Given the description of an element on the screen output the (x, y) to click on. 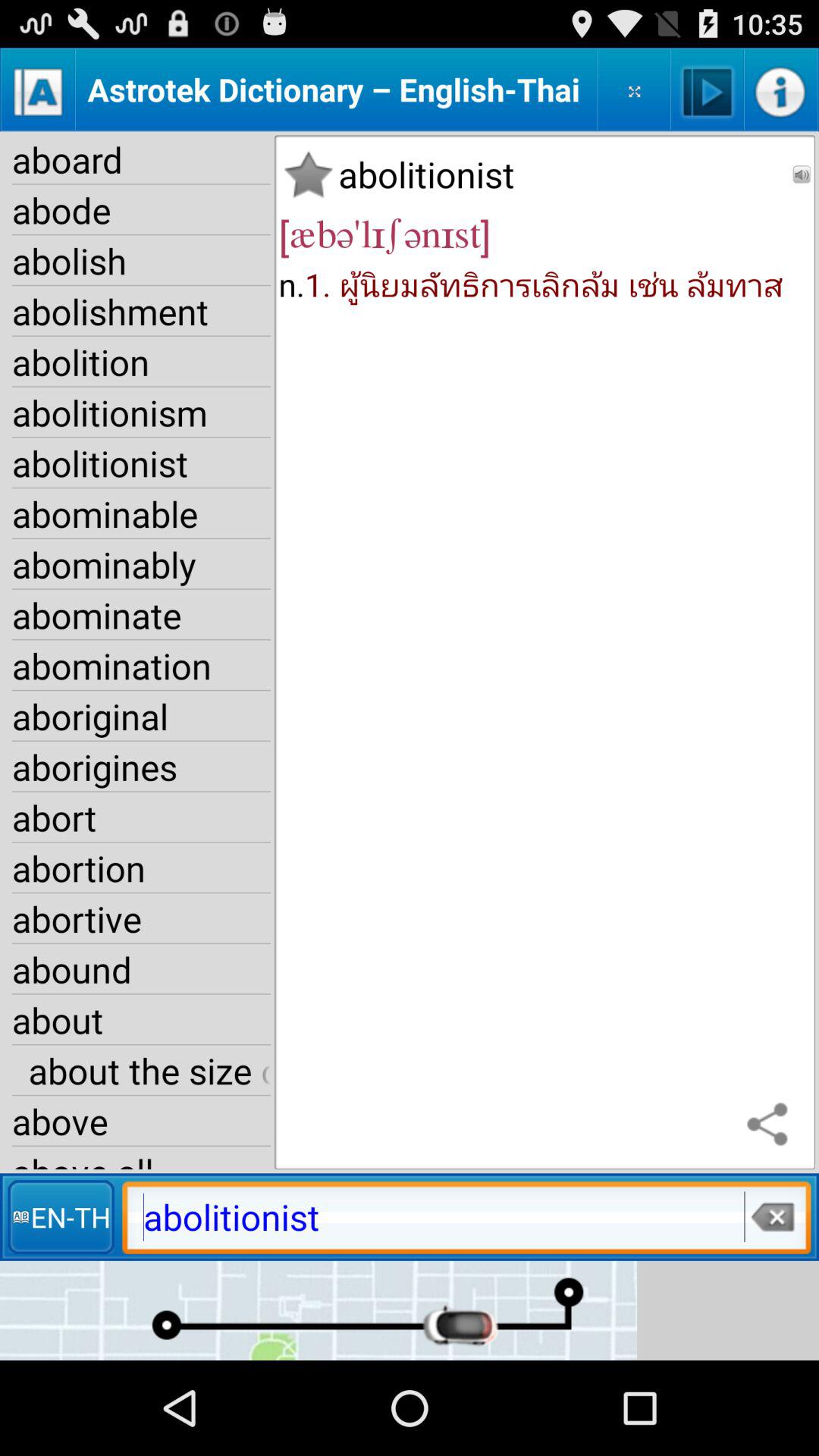
click the icon to the left of abolitionist icon (60, 1217)
